Given the description of an element on the screen output the (x, y) to click on. 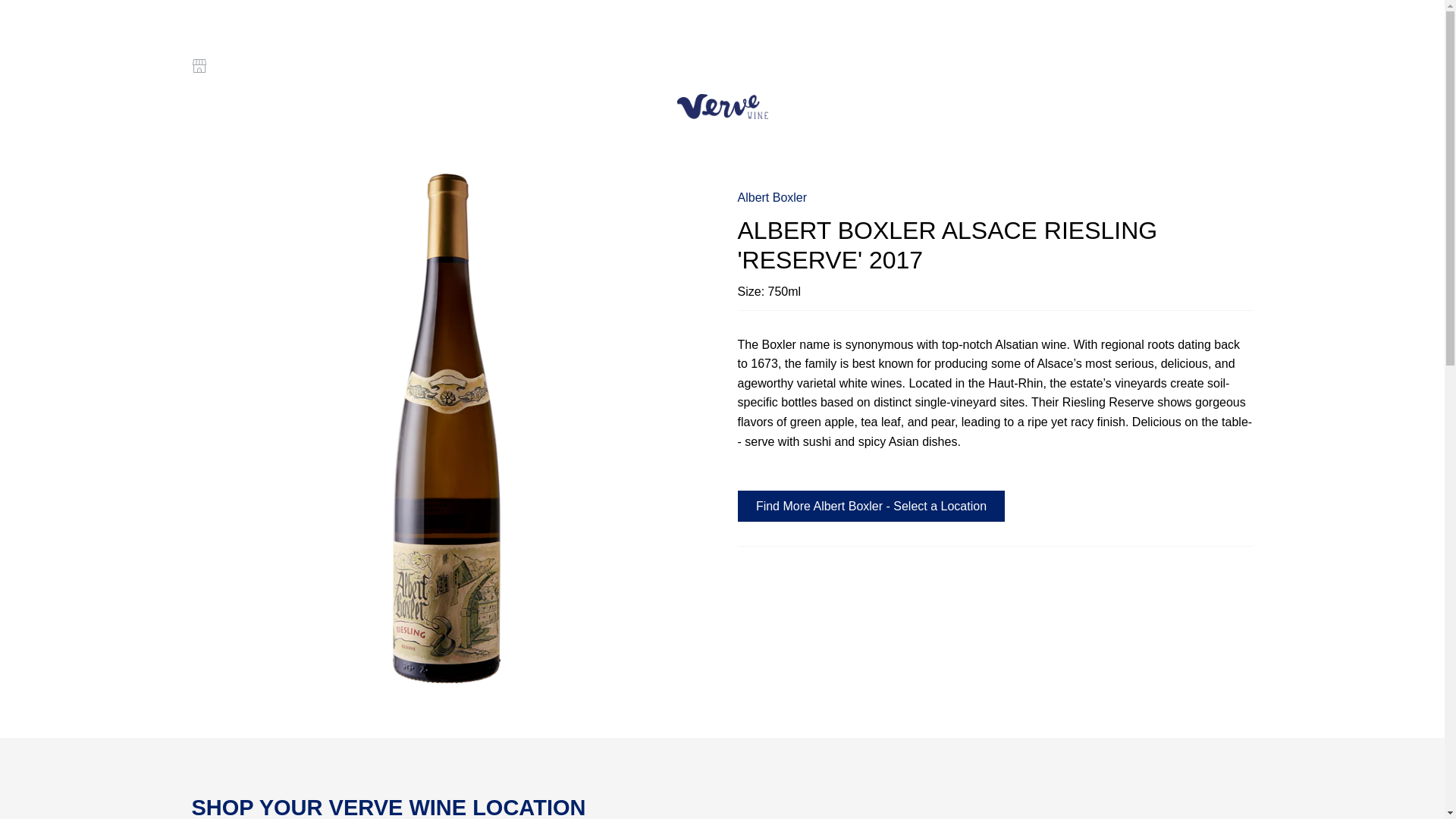
Find More Albert Boxler - Select a Location (870, 505)
Albert Boxler (771, 196)
